Given the description of an element on the screen output the (x, y) to click on. 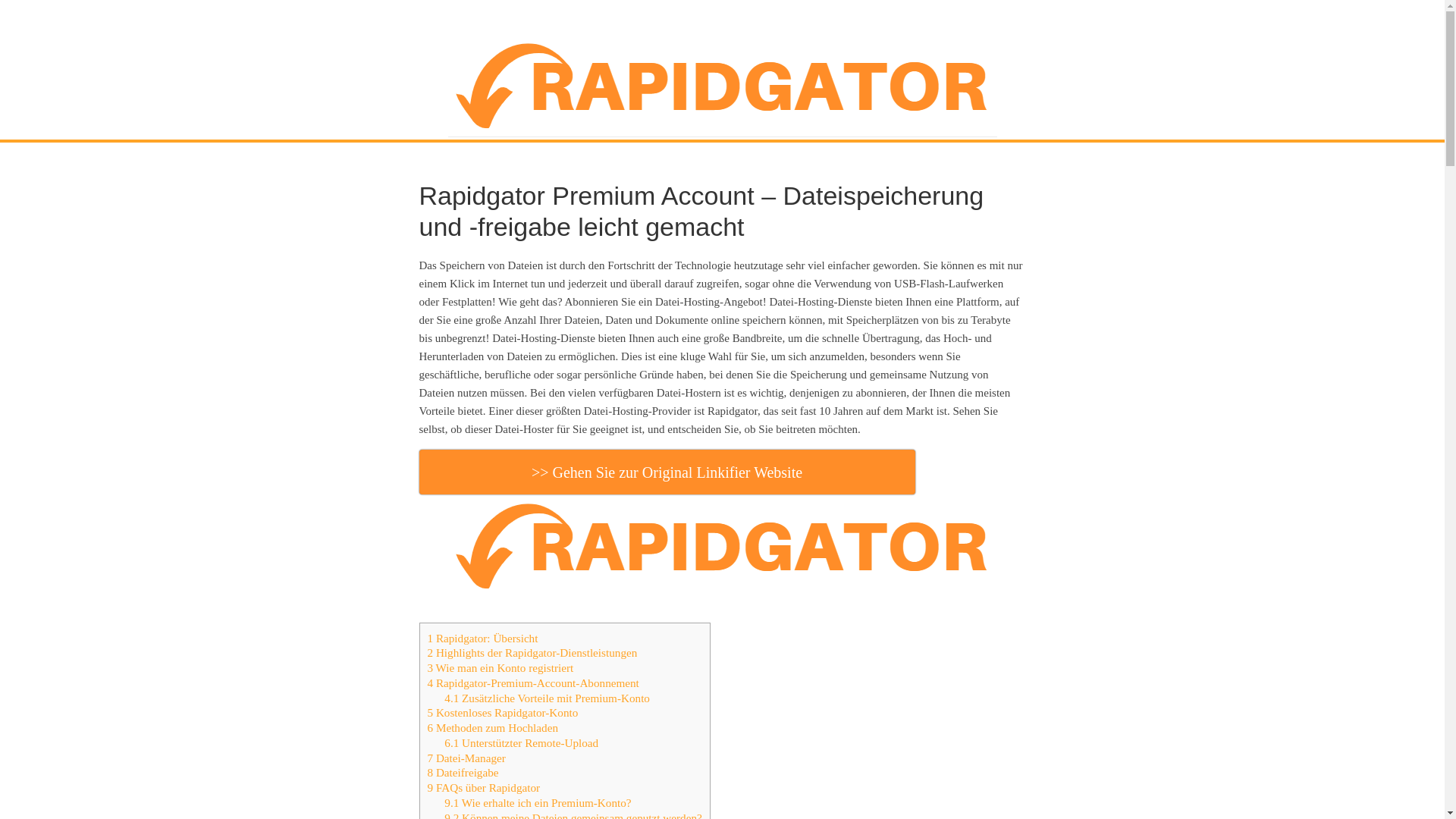
4 Rapidgator-Premium-Account-Abonnement Element type: text (533, 682)
8 Dateifreigabe Element type: text (462, 771)
>> Gehen Sie zur Original Linkifier Website Element type: text (666, 471)
Rapidgator Element type: hover (722, 85)
5 Kostenloses Rapidgator-Konto Element type: text (502, 712)
3 Wie man ein Konto registriert Element type: text (500, 667)
7 Datei-Manager Element type: text (466, 757)
9.1 Wie erhalte ich ein Premium-Konto? Element type: text (537, 802)
6 Methoden zum Hochladen Element type: text (492, 727)
2 Highlights der Rapidgator-Dienstleistungen Element type: text (532, 652)
